Given the description of an element on the screen output the (x, y) to click on. 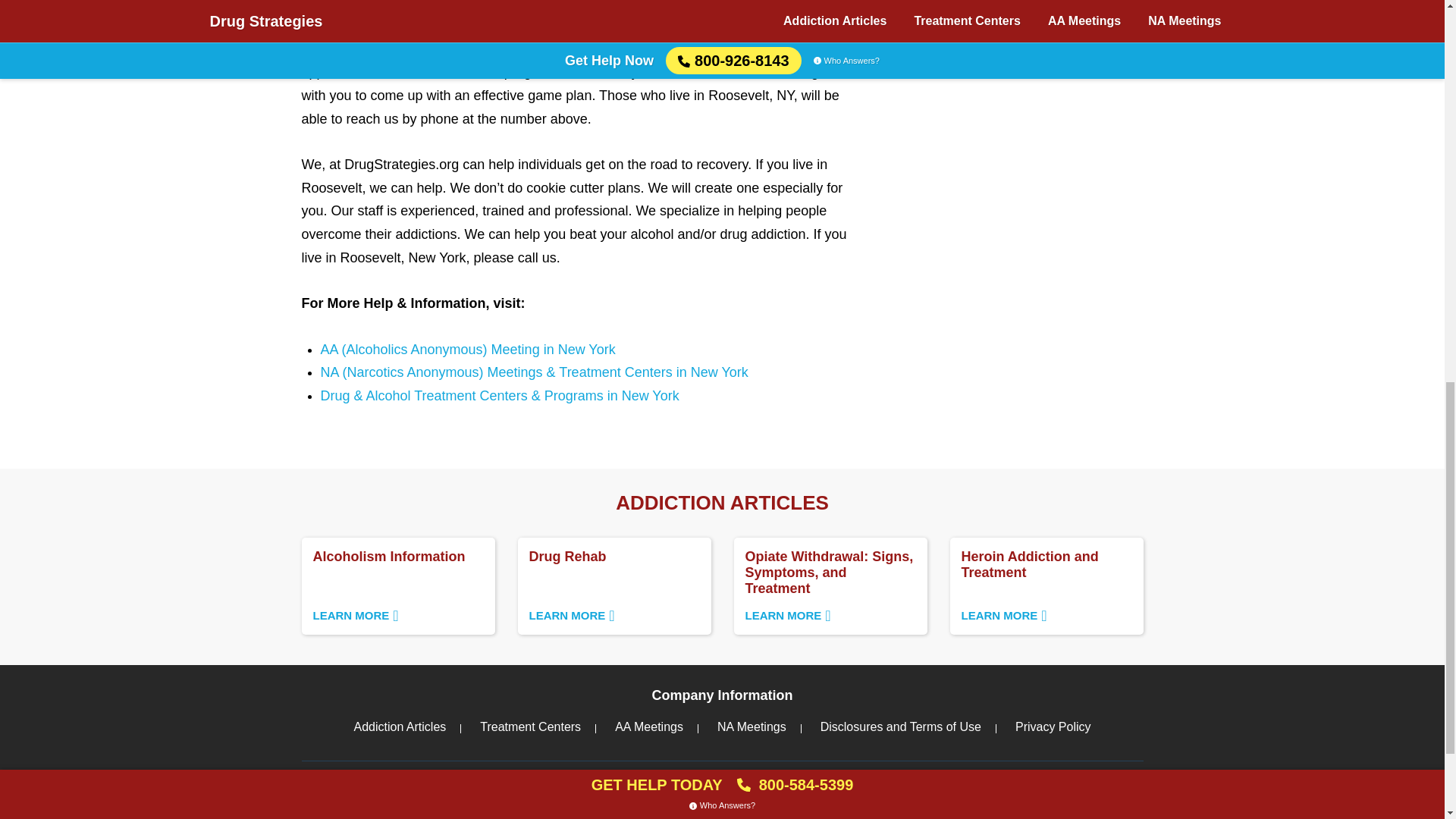
Addiction Articles (613, 585)
Privacy Policy (398, 585)
Disclosures and Terms of Use (399, 726)
AA Meetings (1053, 726)
NA Meetings (900, 726)
DrugStrategies.org (648, 726)
